Given the description of an element on the screen output the (x, y) to click on. 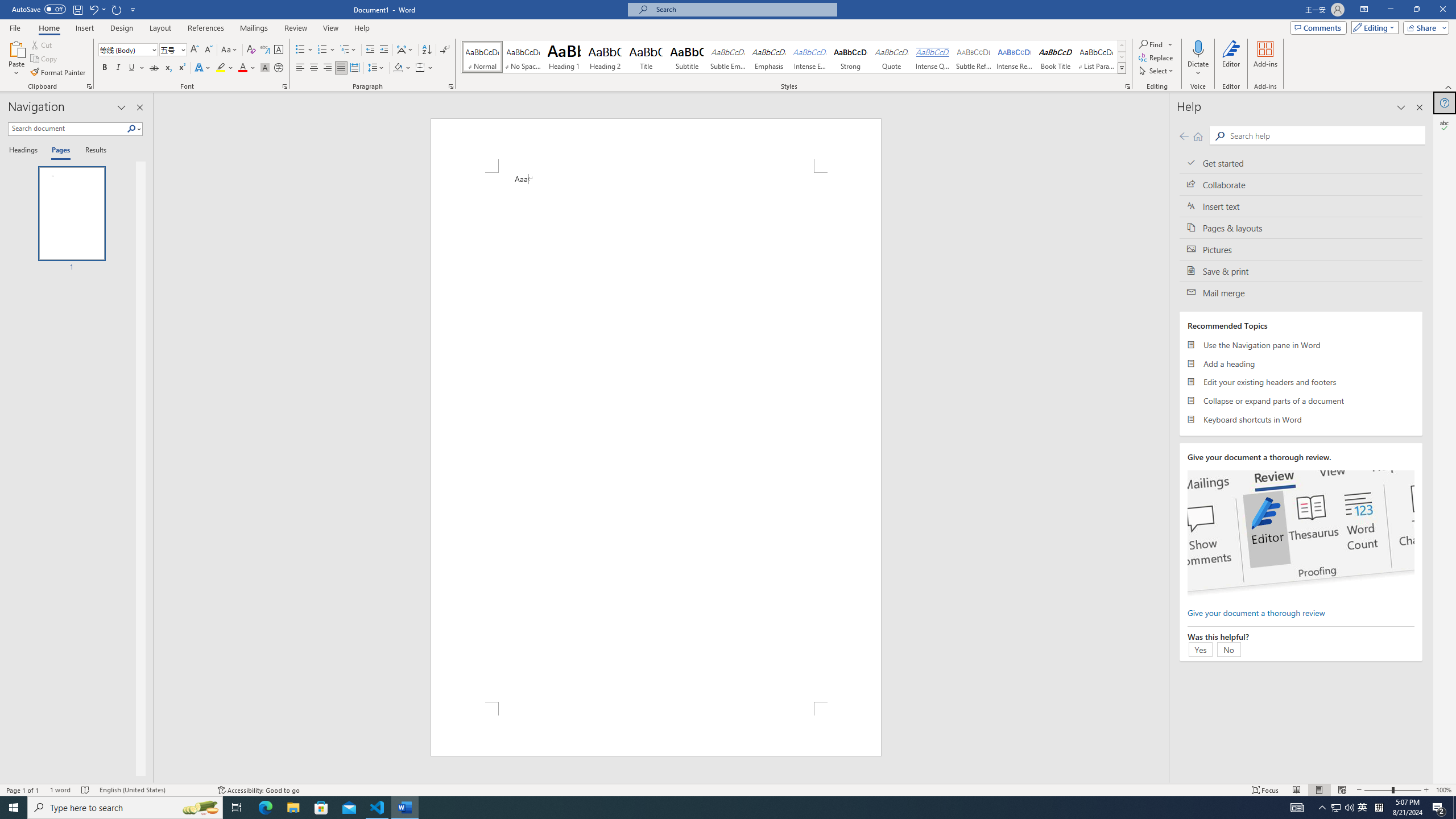
Zoom 100% (1443, 790)
Pictures (1300, 249)
Page Number Page 1 of 1 (22, 790)
